Given the description of an element on the screen output the (x, y) to click on. 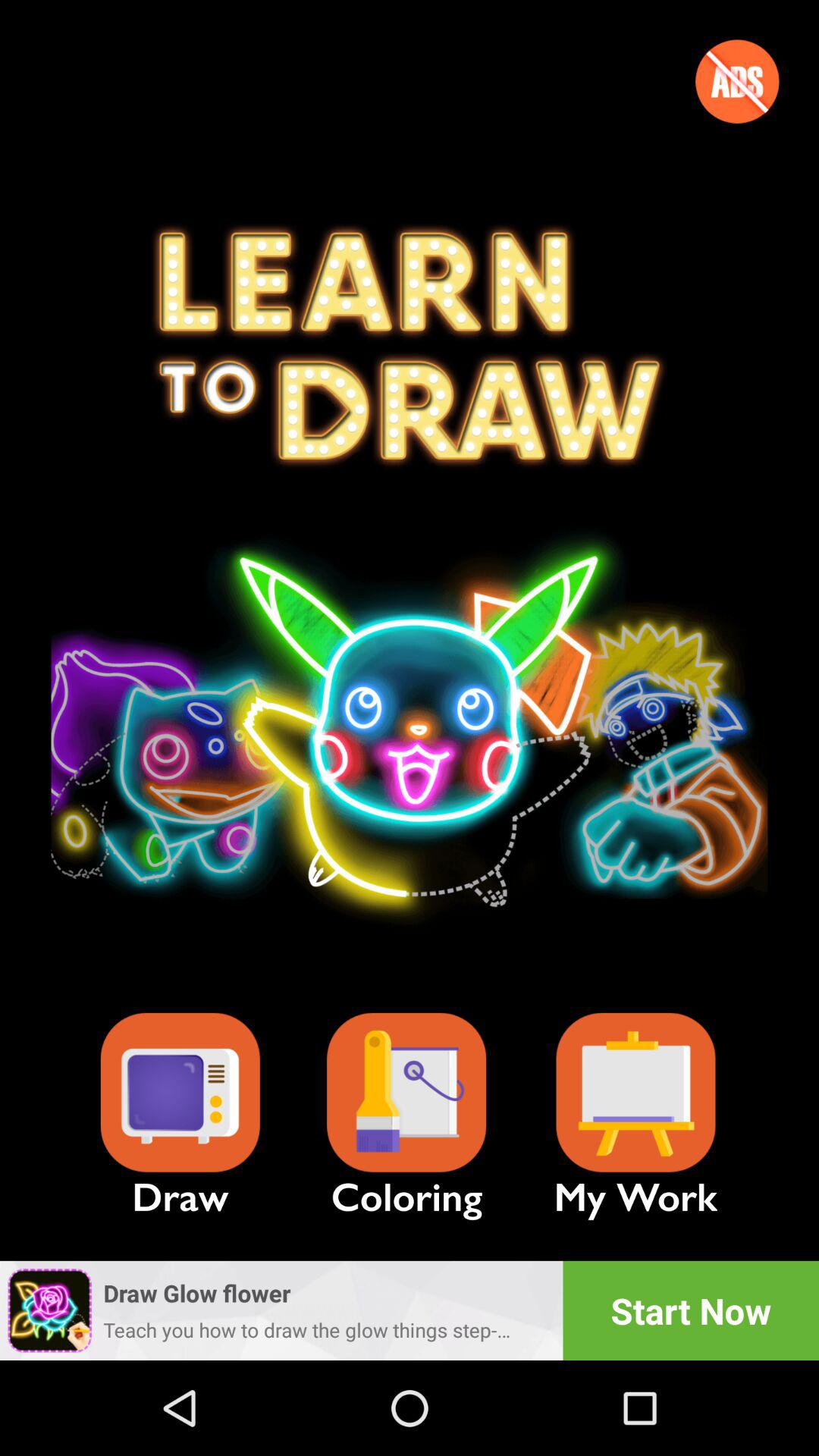
turn off the item below the my work (691, 1310)
